Given the description of an element on the screen output the (x, y) to click on. 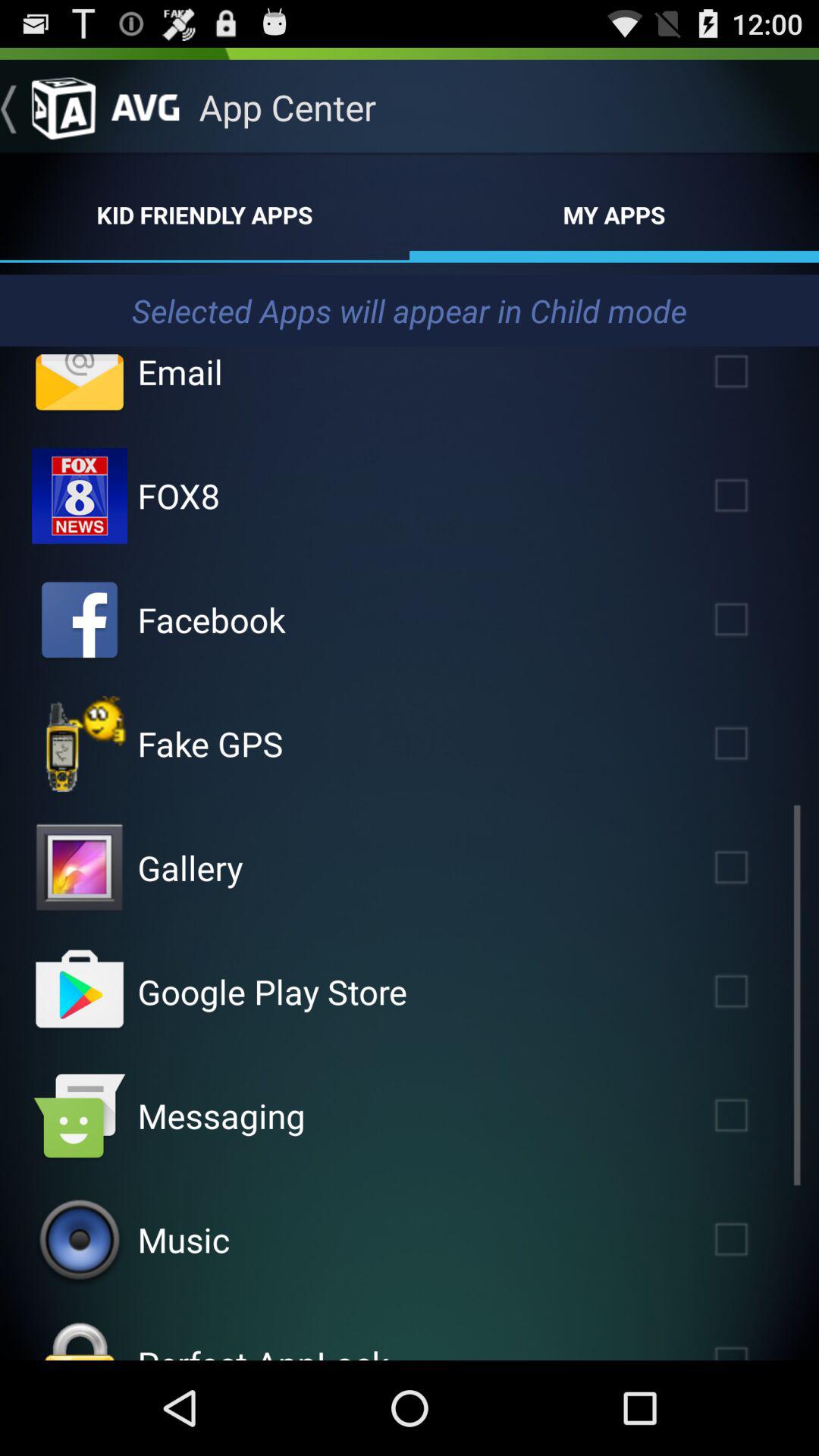
click on gallery icon (79, 867)
